Given the description of an element on the screen output the (x, y) to click on. 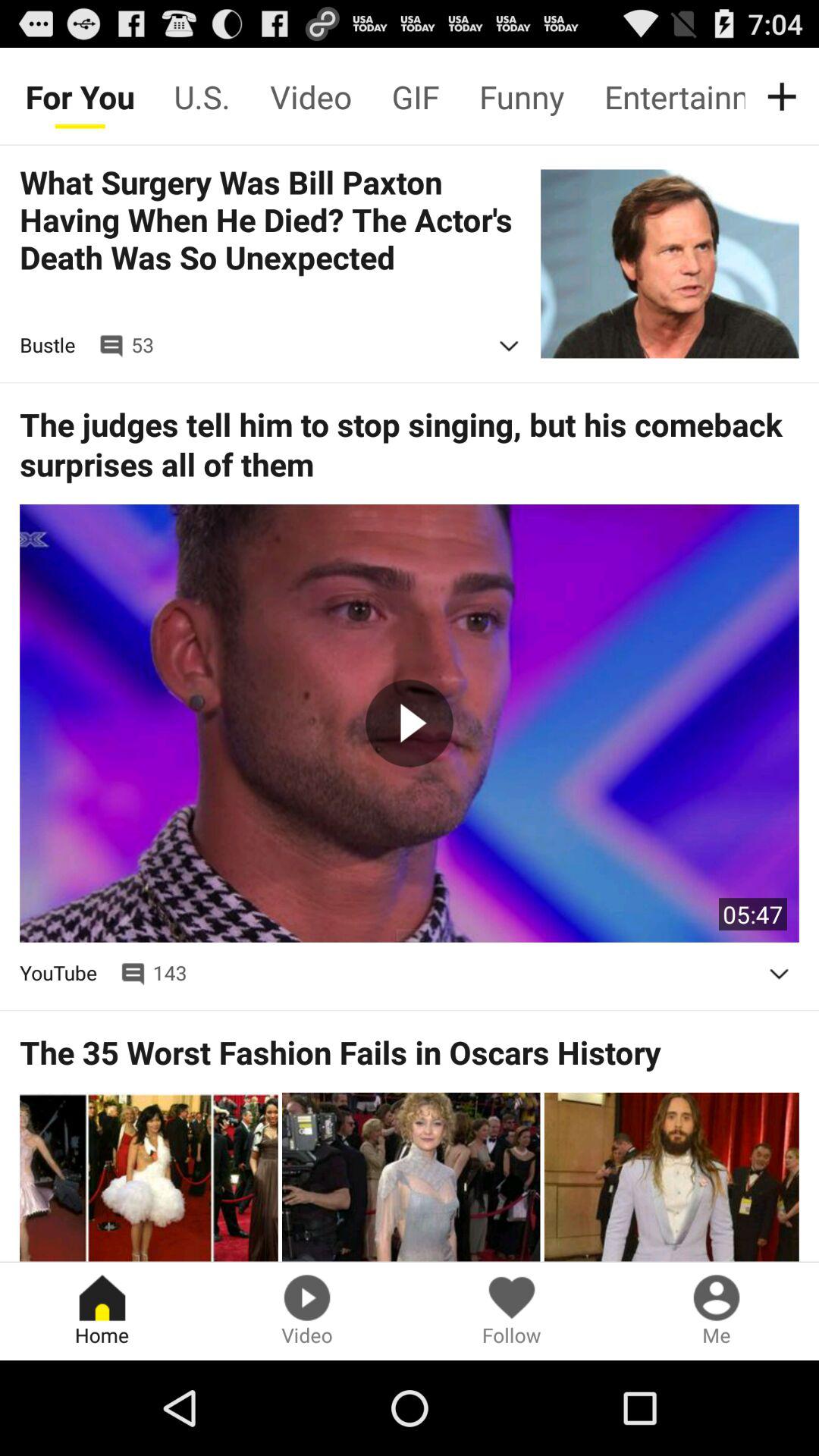
read description (779, 974)
